Given the description of an element on the screen output the (x, y) to click on. 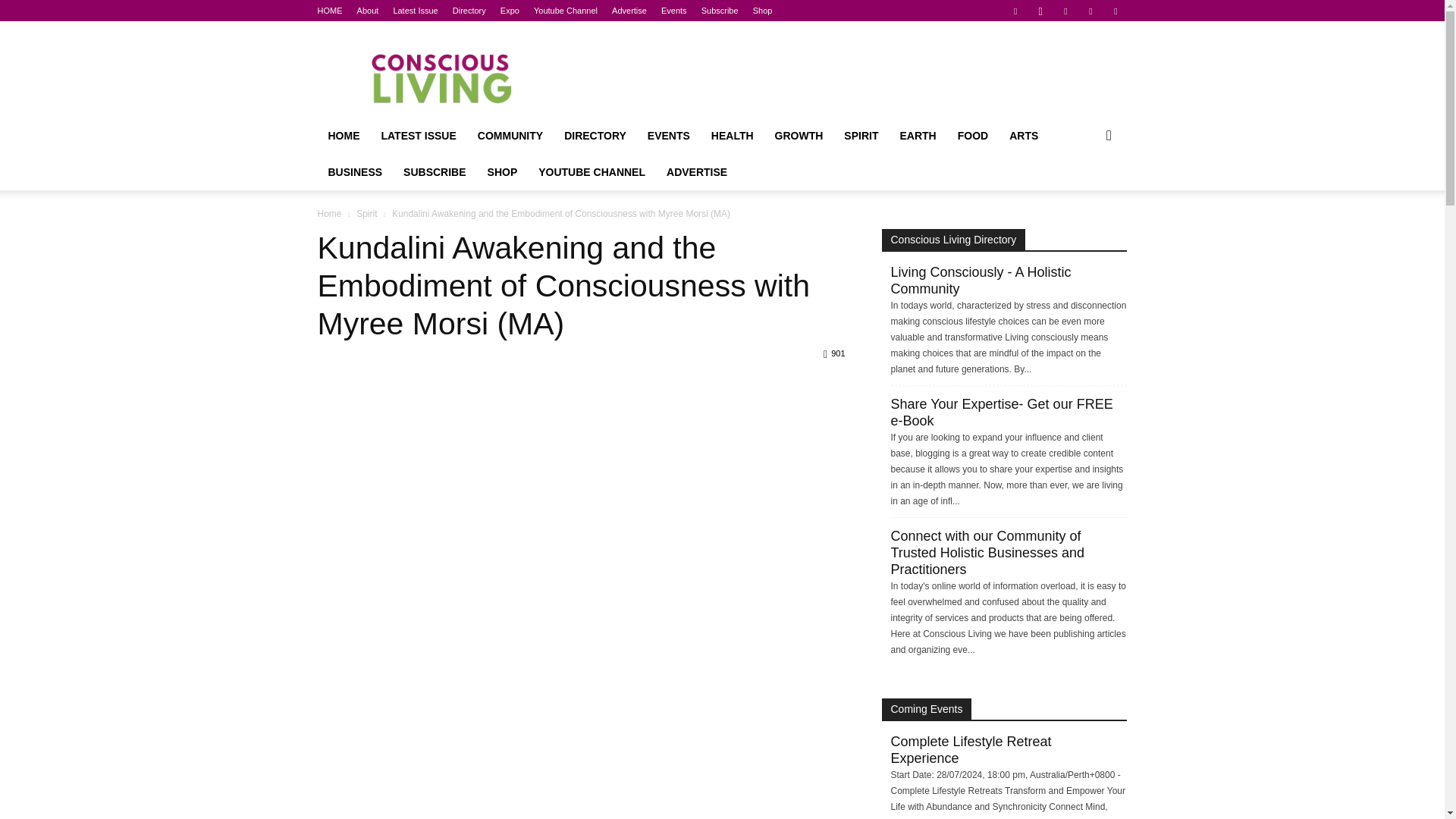
Instagram (1040, 10)
Facebook (1015, 10)
Soundcloud (1065, 10)
Youtube (1114, 10)
Twitter (1090, 10)
